Given the description of an element on the screen output the (x, y) to click on. 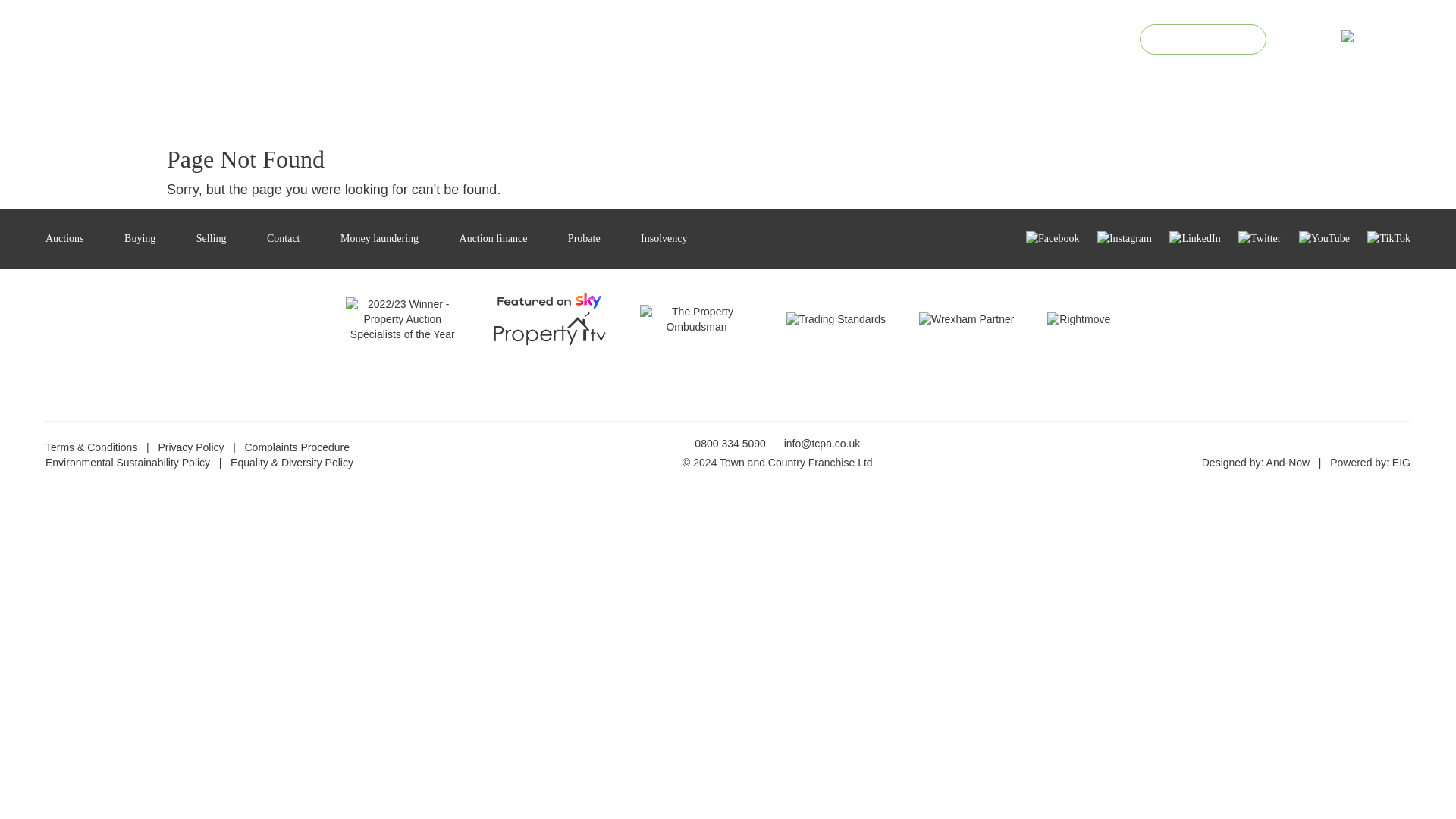
Buying (139, 238)
Contact (282, 238)
Selling (211, 238)
Auctions (64, 238)
Auction finance (493, 238)
0800 334 5090 (975, 37)
Money laundering (379, 238)
